Given the description of an element on the screen output the (x, y) to click on. 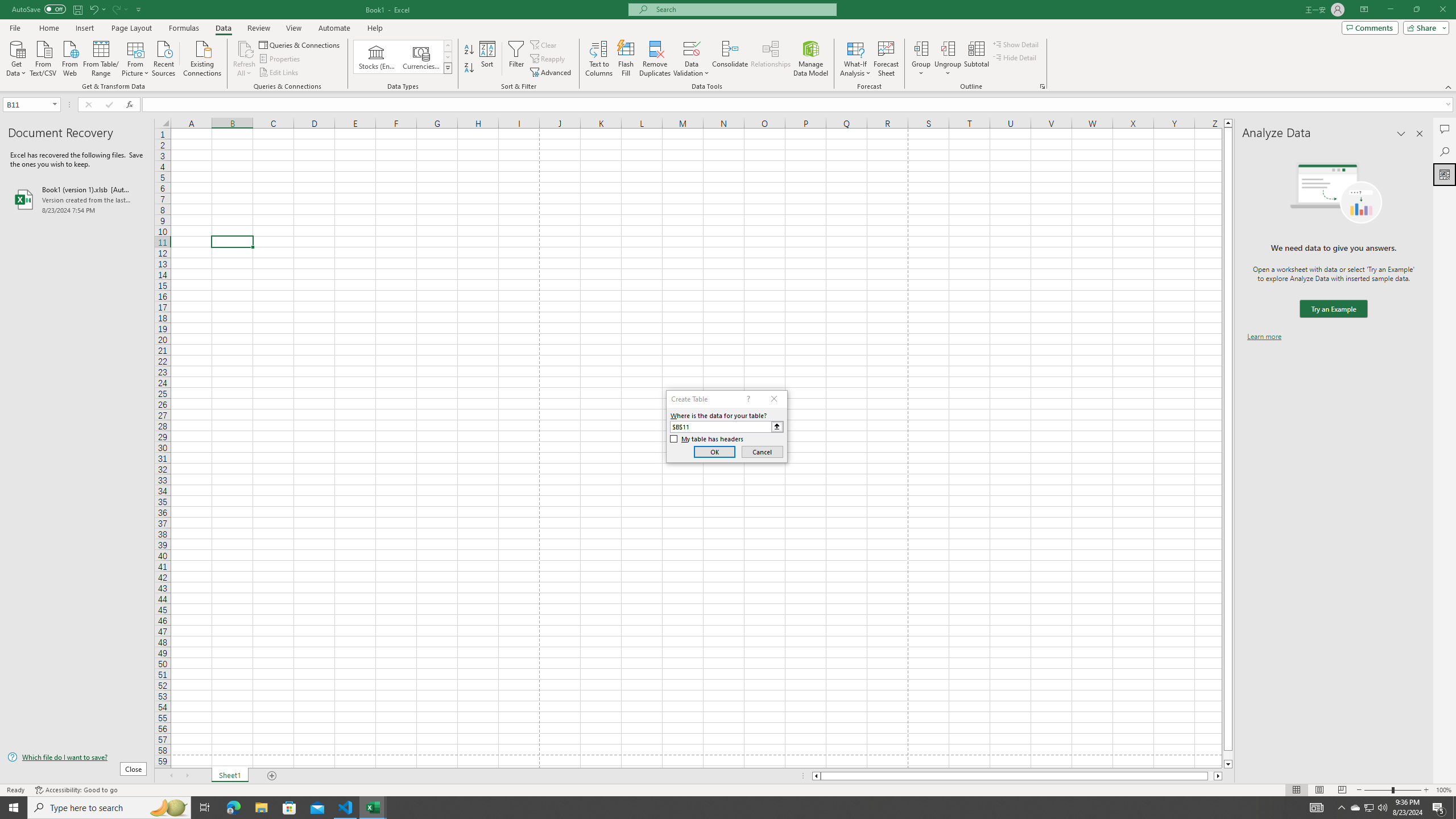
Sort A to Z (469, 49)
From Table/Range (100, 57)
Manage Data Model (810, 58)
Reapply (548, 58)
What-If Analysis (855, 58)
Data Types (448, 67)
